Given the description of an element on the screen output the (x, y) to click on. 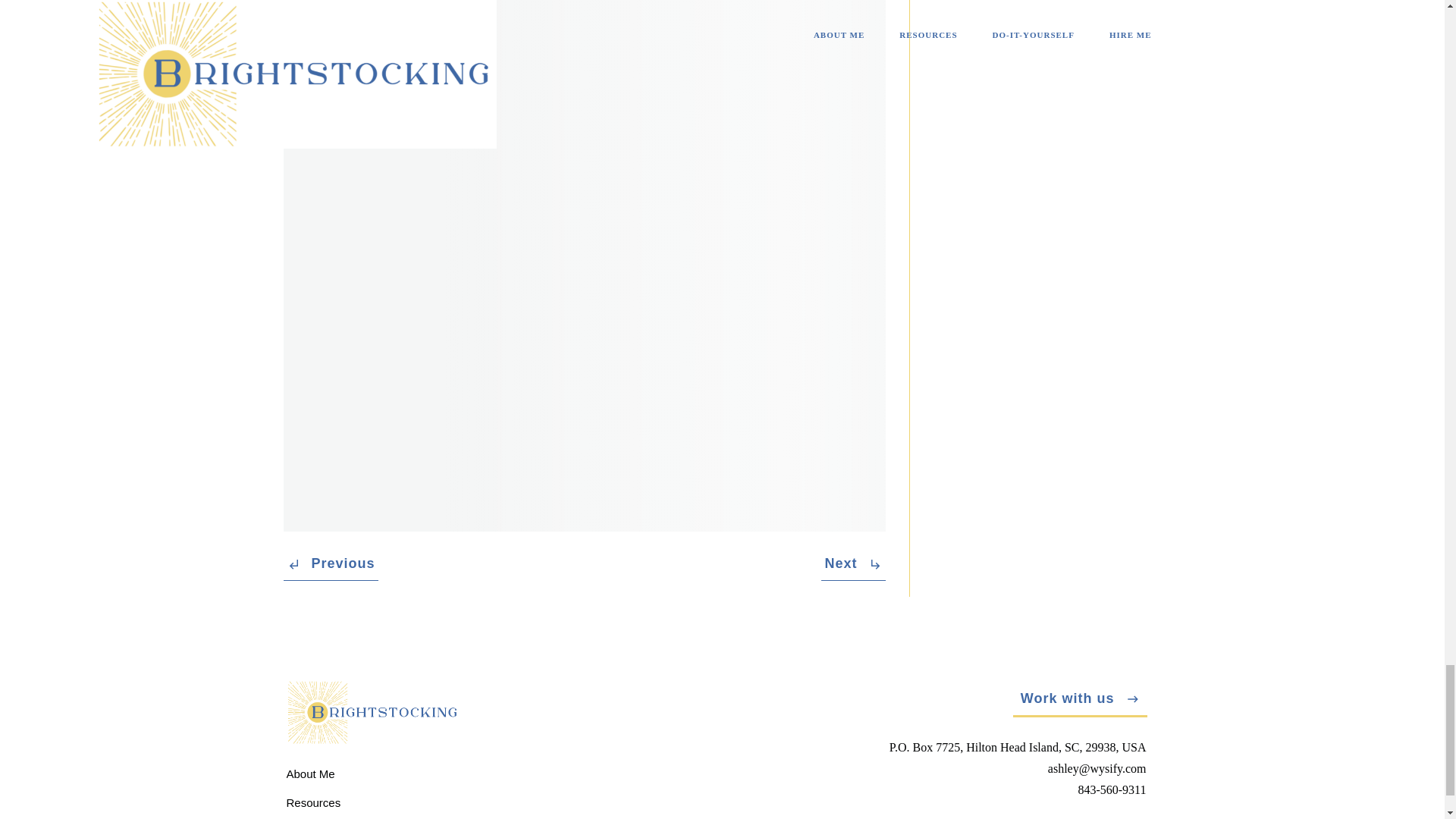
Next (853, 563)
About Me (310, 773)
Resources (313, 802)
Previous (330, 563)
